Given the description of an element on the screen output the (x, y) to click on. 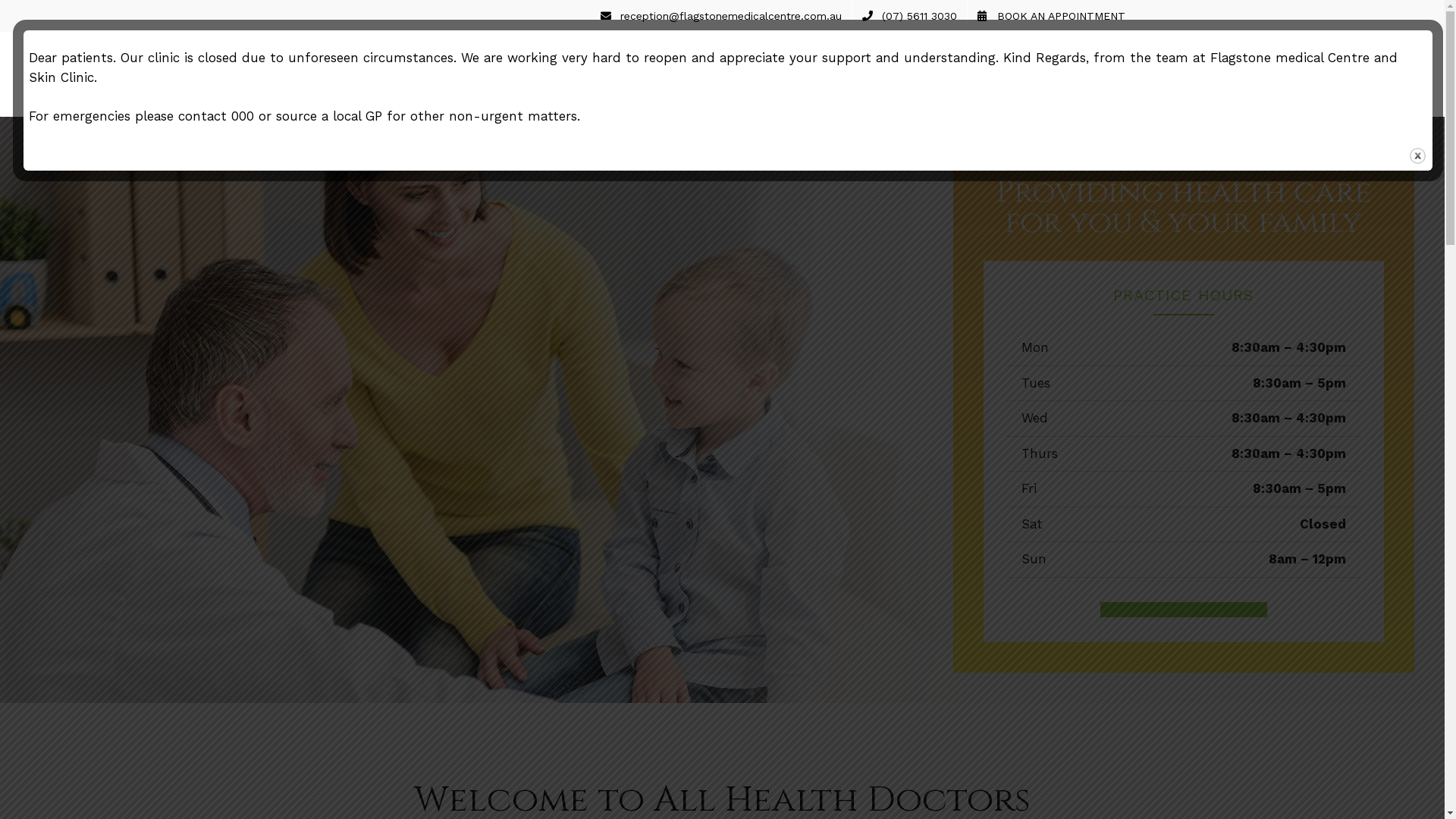
ABOUT Element type: text (692, 74)
BOOK APPOINTMENT NOW Element type: text (1183, 609)
reception@flagstonemedicalcentre.com.au Element type: text (720, 15)
GENERAL SERVICES Element type: text (796, 74)
VASECTOMY Element type: text (1006, 74)
Close Element type: hover (1417, 155)
(07) 5611 3030 Element type: text (909, 15)
BOOK AN APPOINTMENT Element type: text (1051, 15)
HOME Element type: text (628, 74)
SKIN CANCER Element type: text (912, 74)
CONTACT Element type: text (1088, 74)
